Given the description of an element on the screen output the (x, y) to click on. 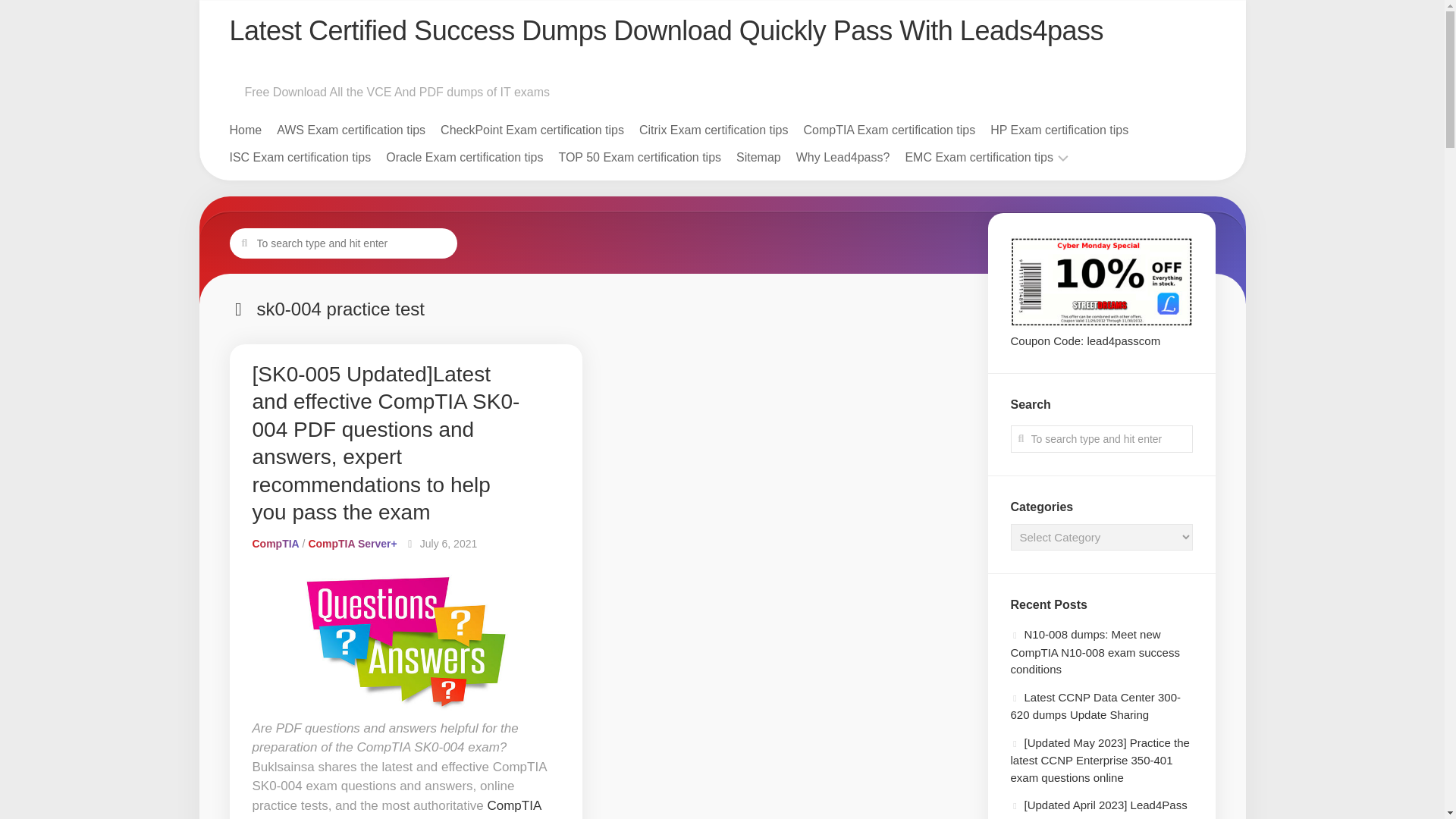
Why Lead4pass? (842, 157)
To search type and hit enter (1101, 438)
Citrix Exam certification tips (714, 130)
To search type and hit enter (342, 242)
Oracle Exam certification tips (464, 157)
CheckPoint Exam certification tips (532, 130)
CompTIA Exam certification tips (889, 130)
To search type and hit enter (1101, 438)
Sitemap (758, 157)
HP Exam certification tips (1059, 130)
TOP 50 Exam certification tips (638, 157)
ISC Exam certification tips (299, 157)
Home (245, 130)
AWS Exam certification tips (350, 130)
